Given the description of an element on the screen output the (x, y) to click on. 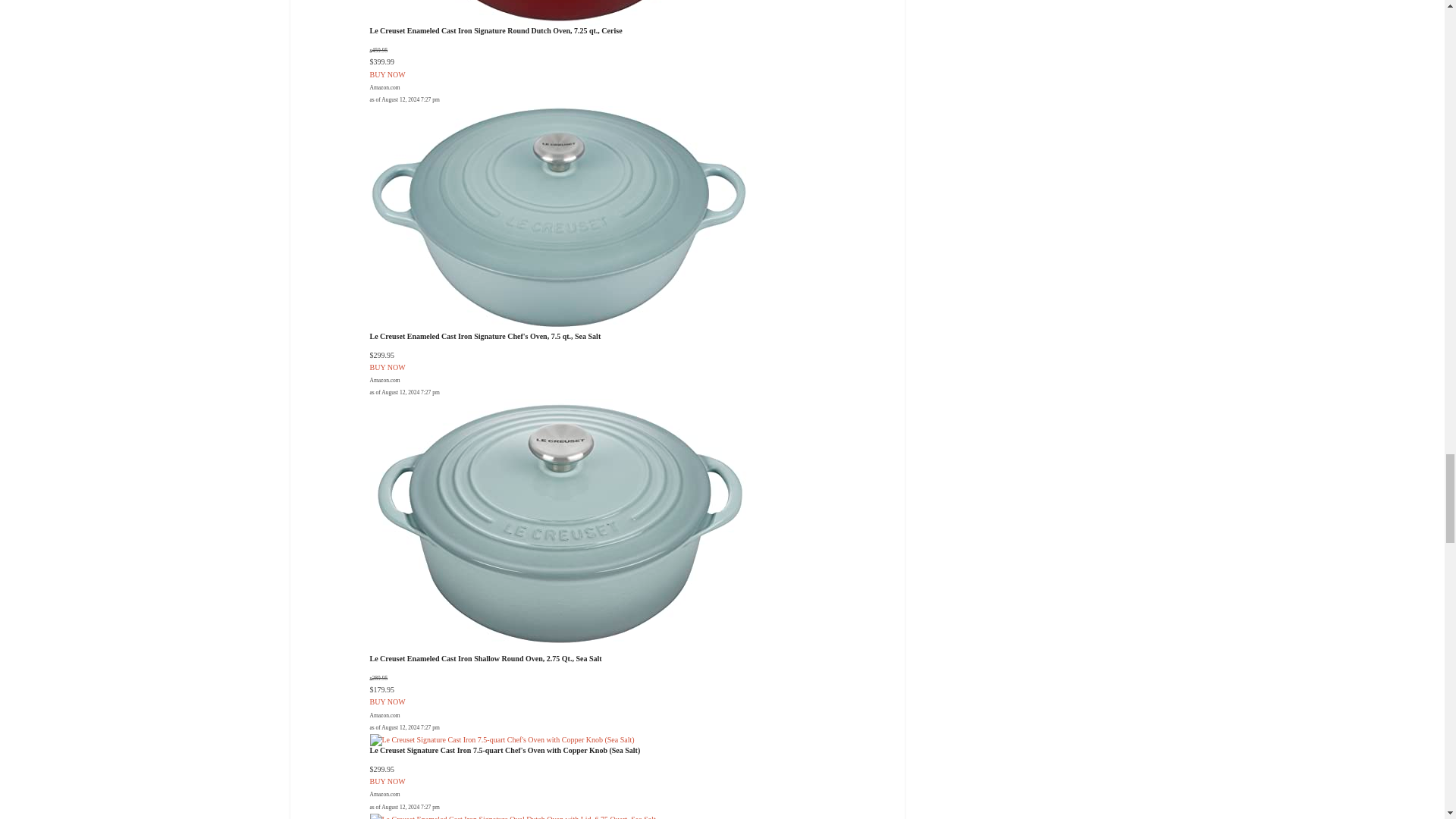
BUY NOW (387, 781)
BUY NOW (387, 74)
BUY NOW (387, 701)
BUY NOW (387, 367)
